Given the description of an element on the screen output the (x, y) to click on. 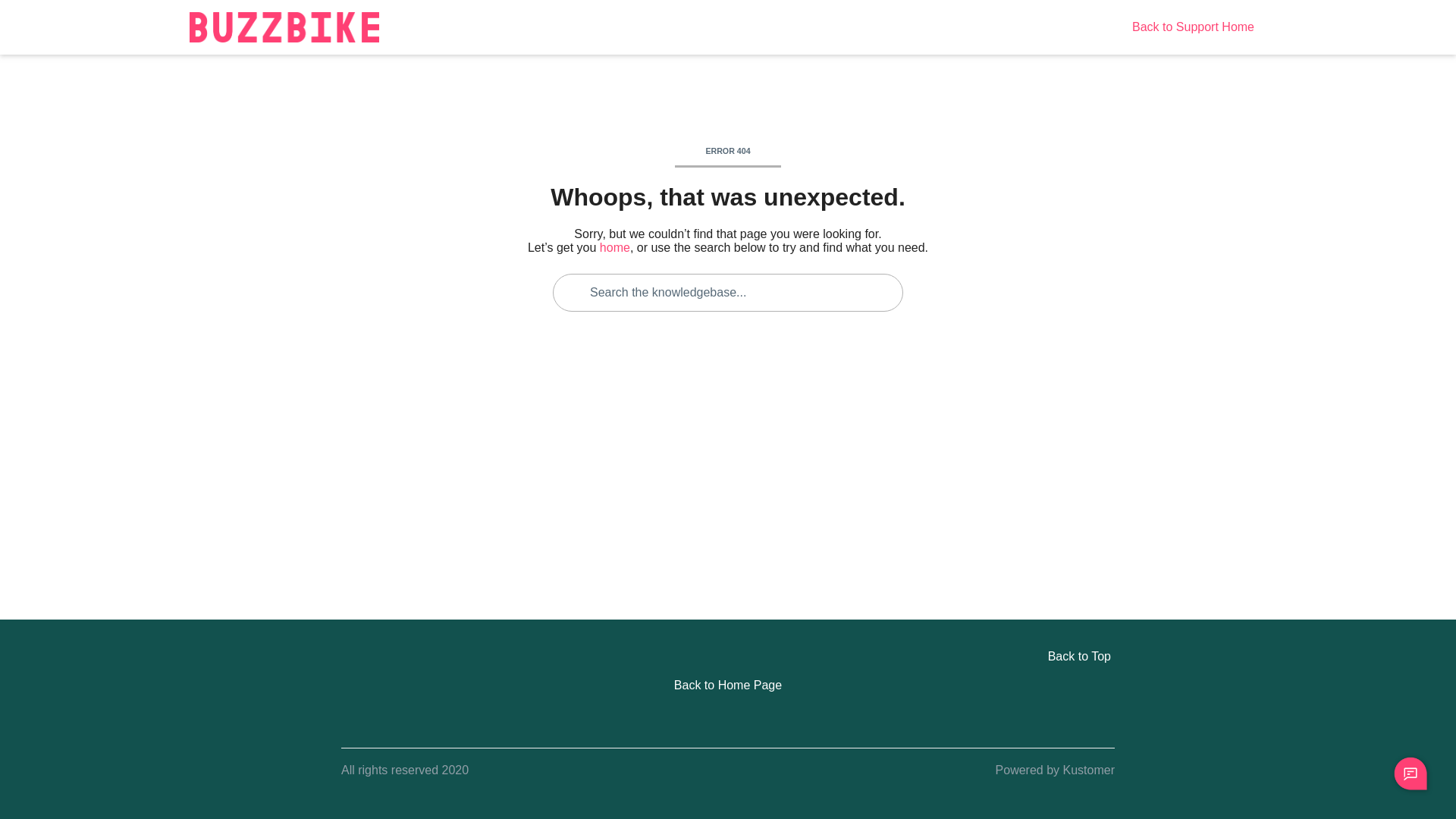
Back to Top Element type: text (727, 656)
Back to Support Home Element type: text (1193, 27)
Powered by Kustomer Element type: text (1054, 770)
home Element type: text (614, 247)
Kustomer Widget Iframe Element type: hover (1410, 773)
Back to Home Page Element type: text (727, 685)
